Given the description of an element on the screen output the (x, y) to click on. 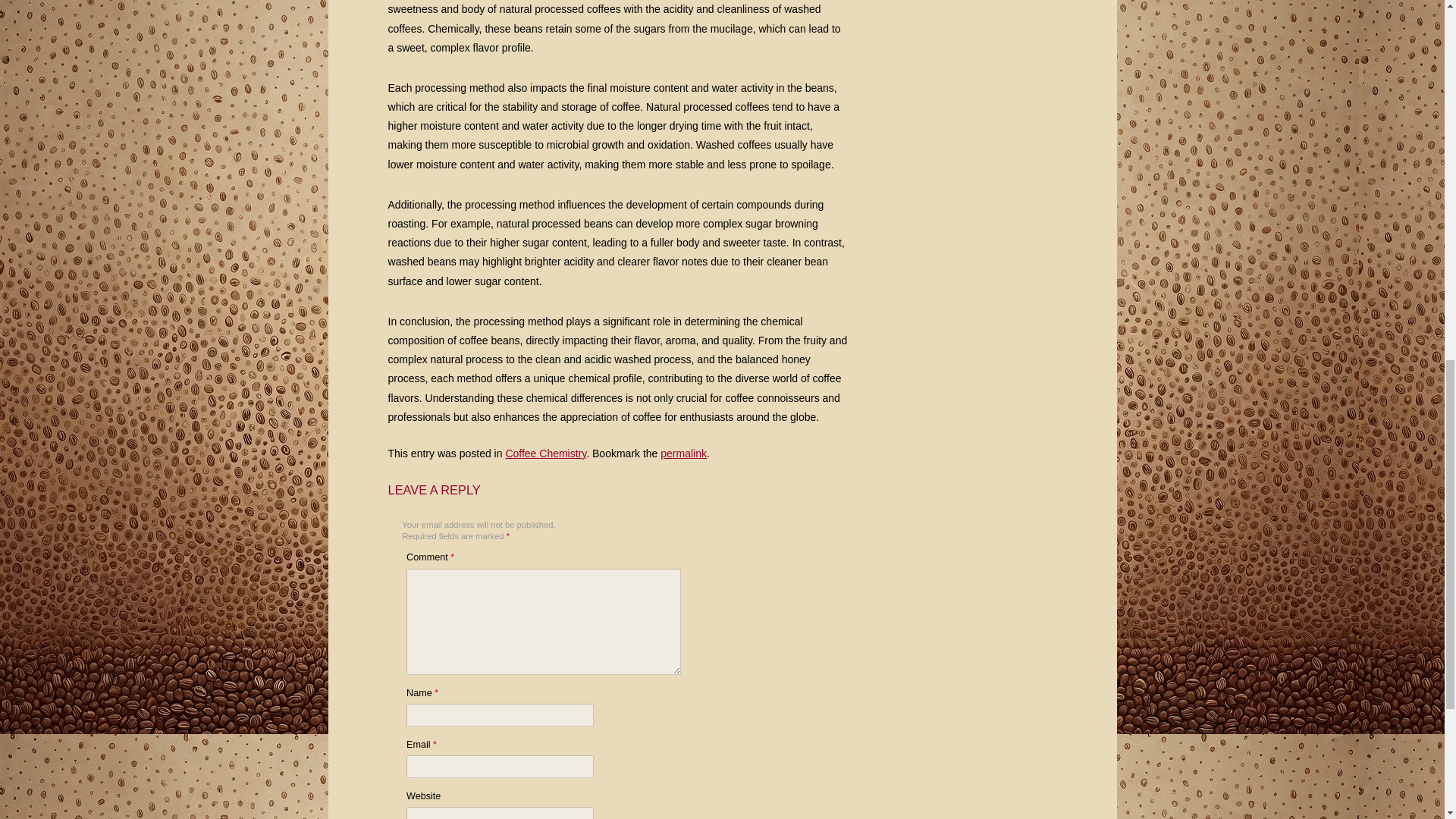
Coffee Chemistry (545, 453)
permalink (683, 453)
